Given the description of an element on the screen output the (x, y) to click on. 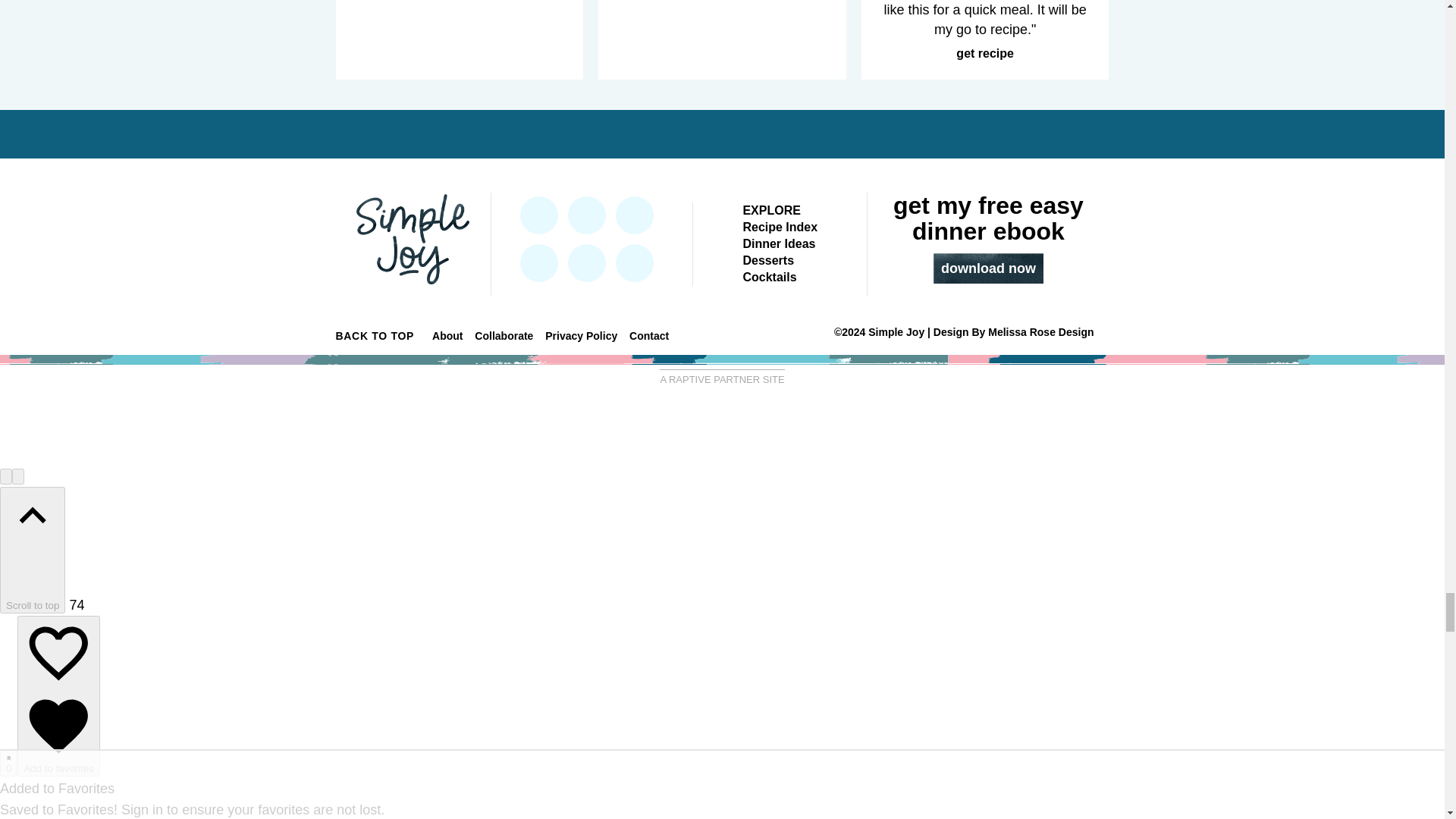
Recipe Index (779, 226)
Cocktails (769, 277)
Desserts (767, 259)
Dinner Ideas (778, 243)
